Given the description of an element on the screen output the (x, y) to click on. 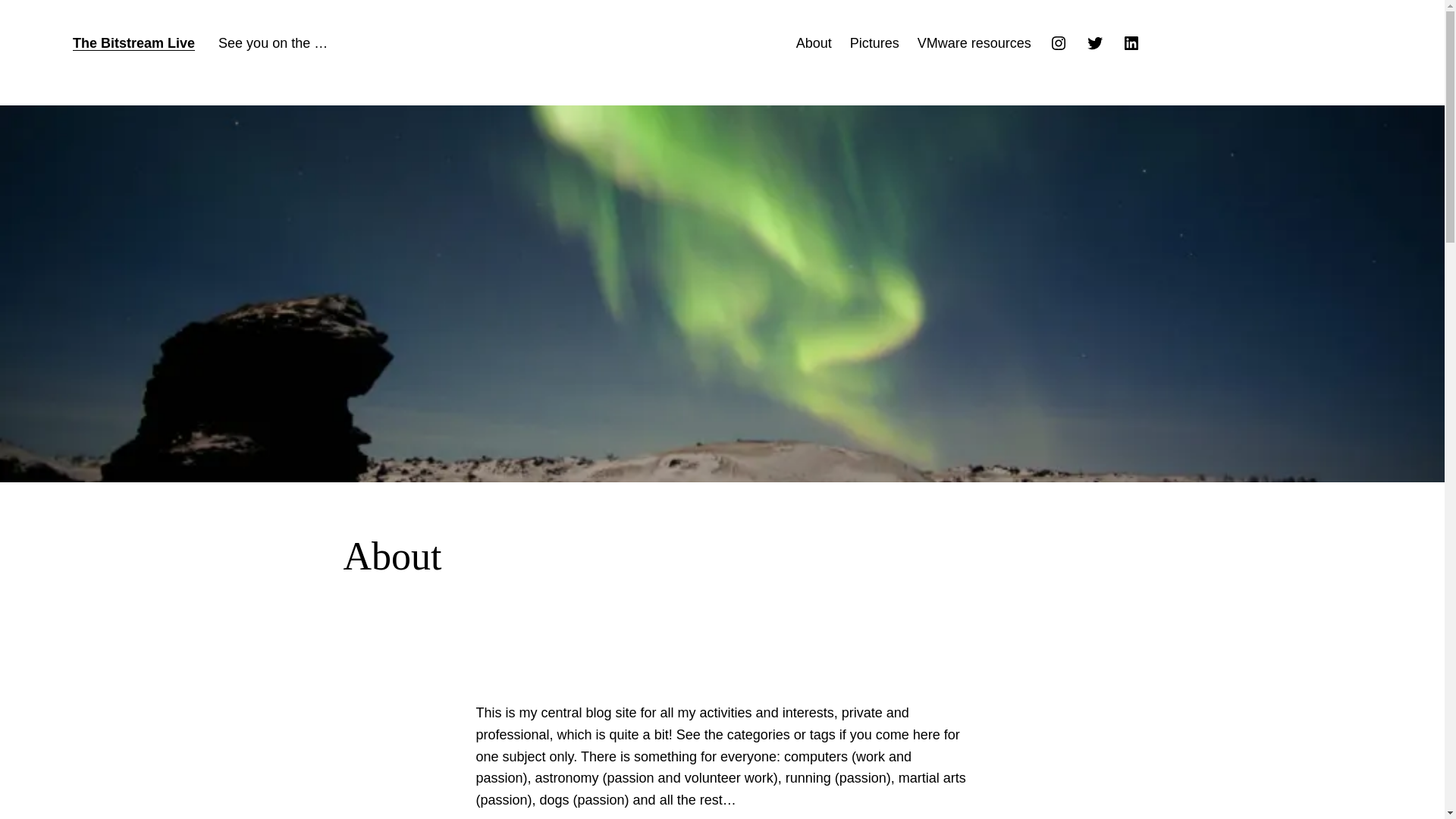
The Bitstream Live (133, 43)
LinkedIn (1131, 43)
Twitter (1094, 43)
Pictures (874, 43)
VMware resources (973, 43)
Instagram (1058, 43)
About (813, 43)
